Given the description of an element on the screen output the (x, y) to click on. 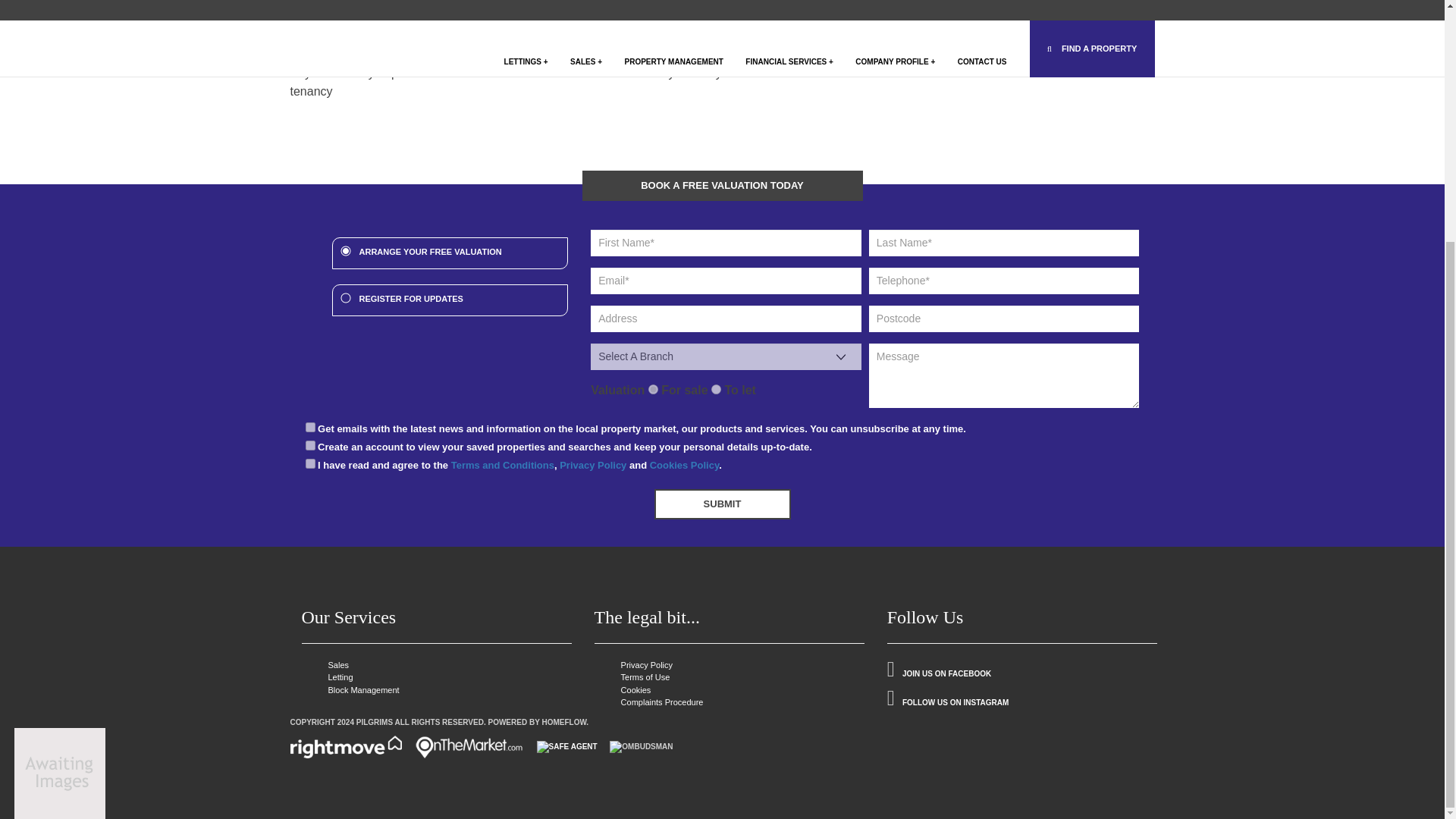
on (309, 463)
lettings (715, 388)
on (309, 427)
Submit (721, 503)
on (309, 445)
sales (652, 388)
